Given the description of an element on the screen output the (x, y) to click on. 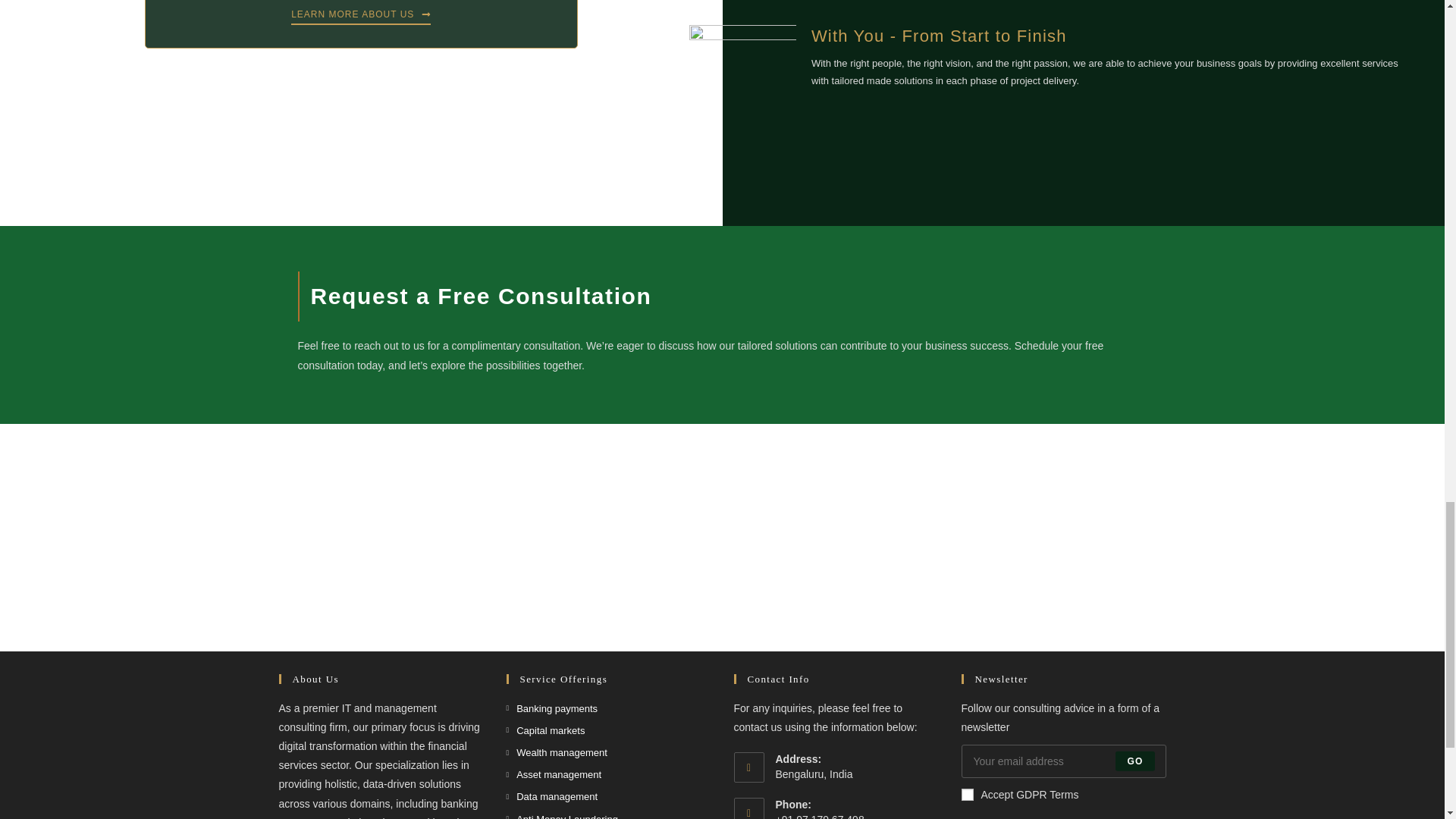
GO (1134, 761)
Capital markets (545, 730)
Asset management (554, 773)
Banking payments (552, 708)
LEARN MORE ABOUT US (360, 17)
Wealth management (556, 752)
1 (967, 794)
Data management (552, 796)
Anti Money Laundering (561, 814)
